Given the description of an element on the screen output the (x, y) to click on. 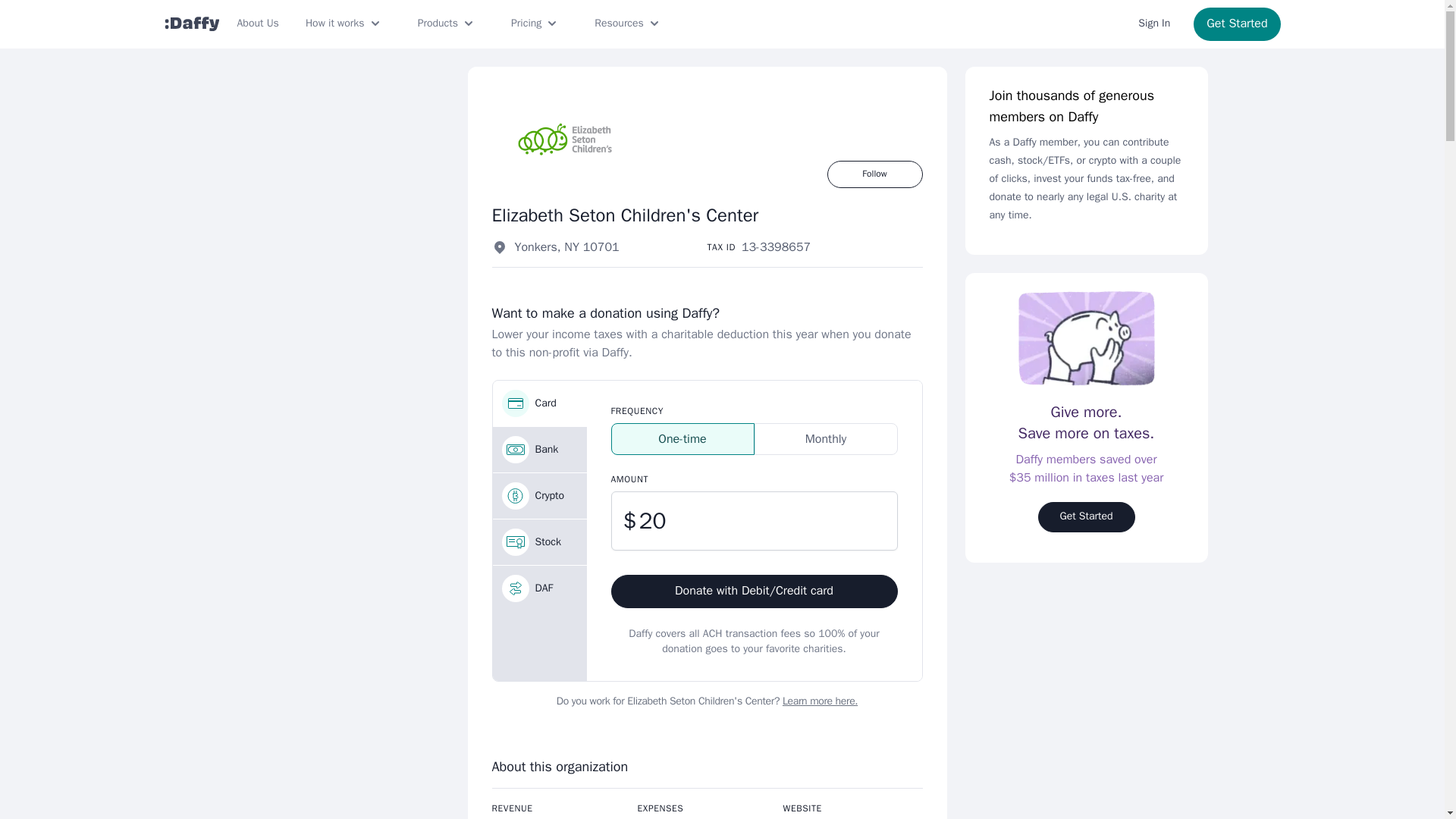
Card (539, 402)
Monthly (825, 439)
Resources (627, 24)
Stock (539, 542)
How it works (344, 24)
Sign In (1153, 24)
Get Started (1236, 23)
Pricing (534, 24)
Bank (539, 449)
DAF (539, 587)
